Given the description of an element on the screen output the (x, y) to click on. 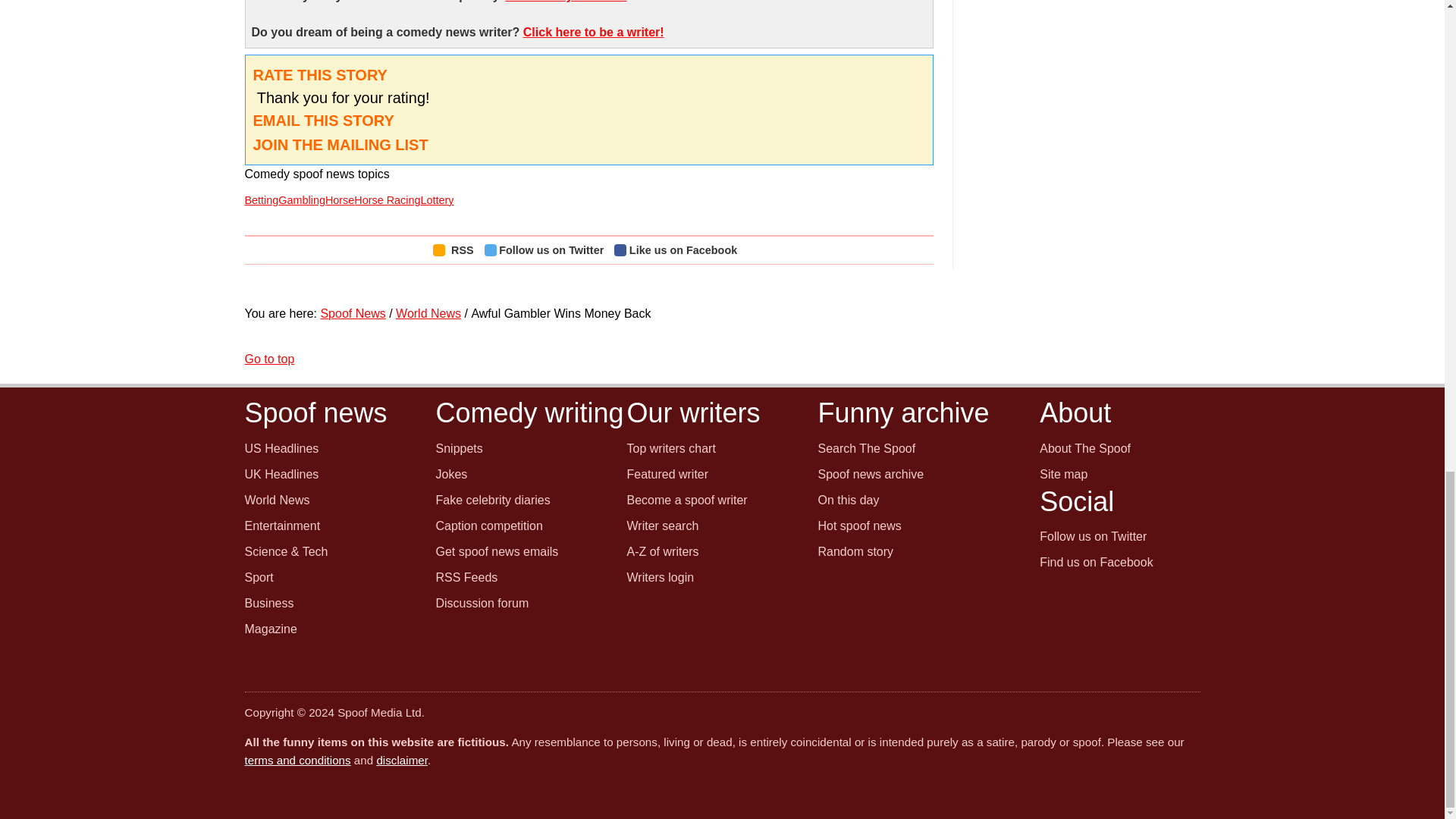
Click here to be a writer! (592, 31)
RSS (456, 250)
Like us on Facebook (679, 250)
Horse Racing (386, 200)
Gambling (301, 200)
Spoof News (352, 313)
Follow us on Twitter (547, 250)
View RSS Feed (456, 250)
World News (428, 313)
EMAIL THIS STORY (323, 120)
